Given the description of an element on the screen output the (x, y) to click on. 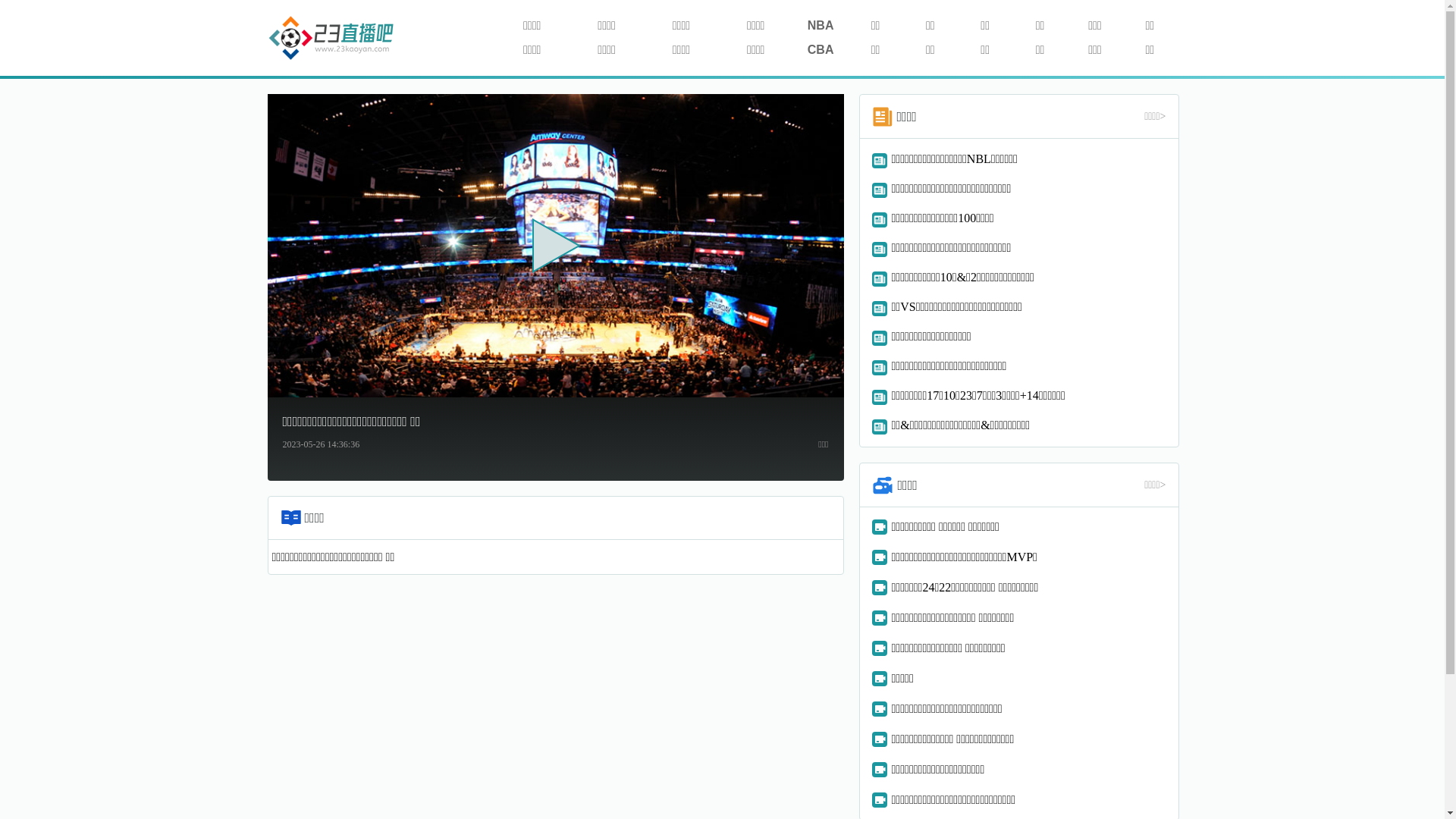
CBA Element type: text (820, 49)
114 Element type: hover (330, 39)
NBA Element type: text (820, 25)
